Given the description of an element on the screen output the (x, y) to click on. 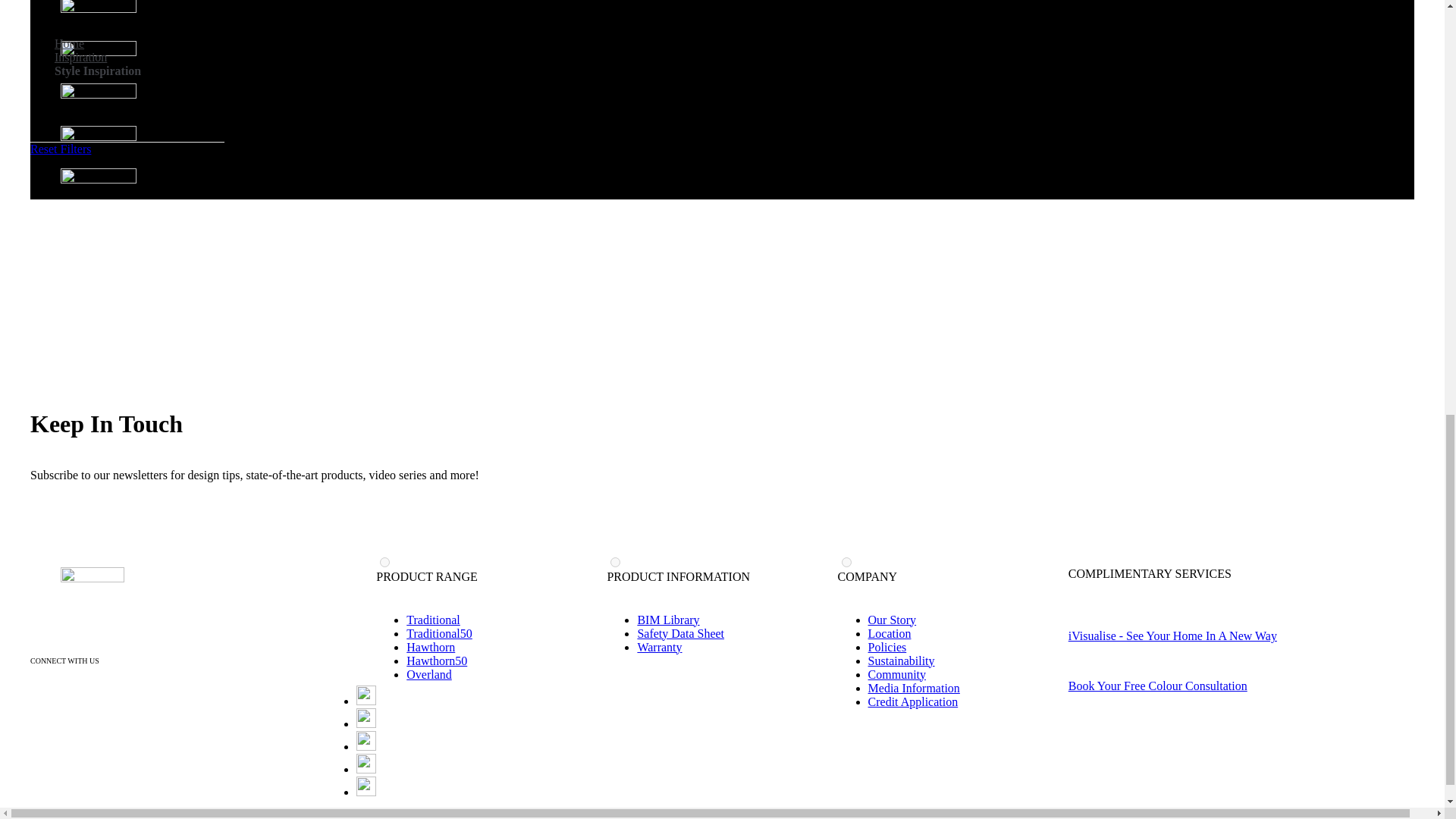
on (615, 562)
on (846, 562)
on (385, 562)
